Given the description of an element on the screen output the (x, y) to click on. 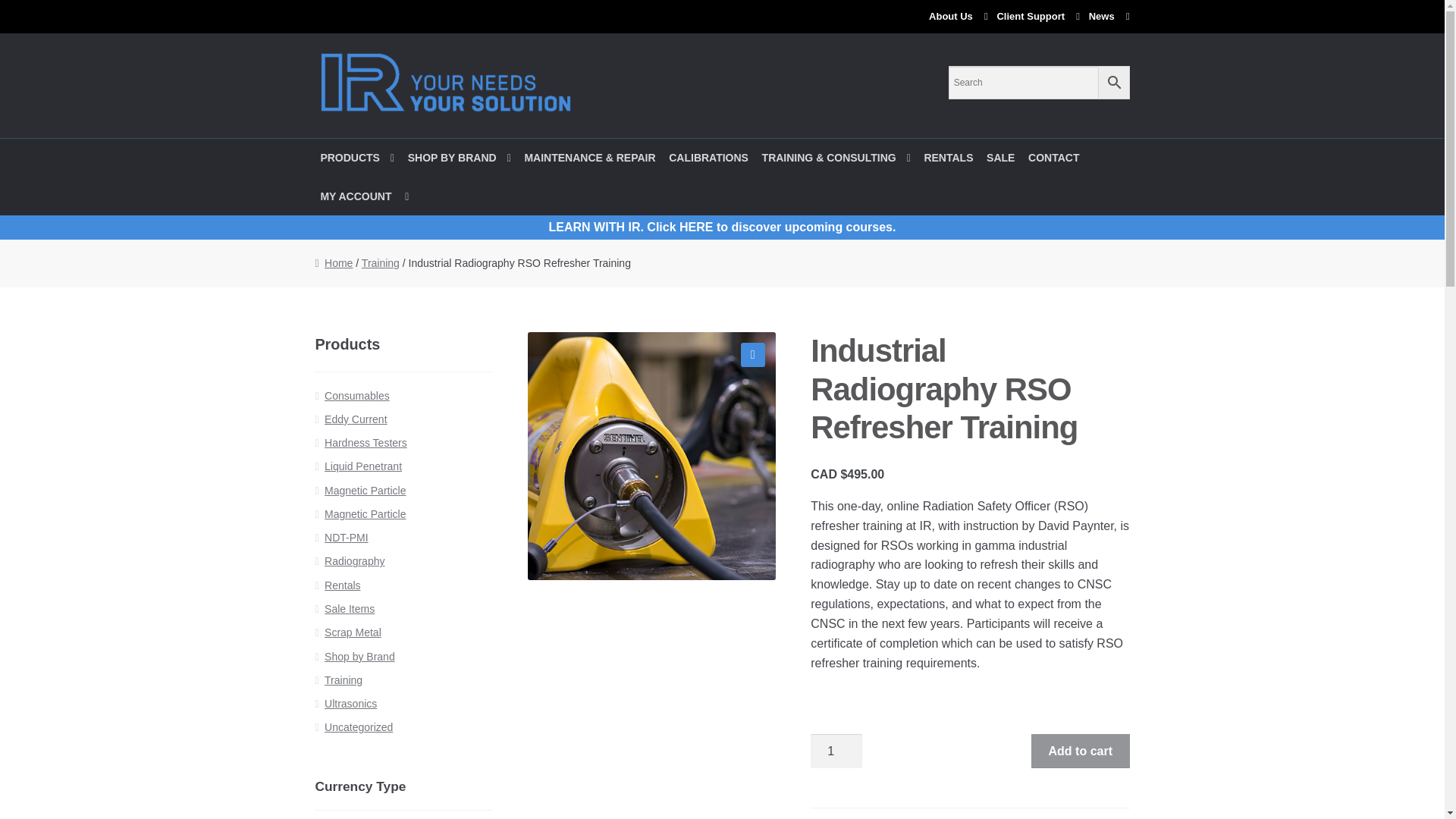
1 (835, 751)
Client Support (1035, 17)
PRODUCTS (356, 157)
About Us (955, 17)
News (1106, 17)
